Given the description of an element on the screen output the (x, y) to click on. 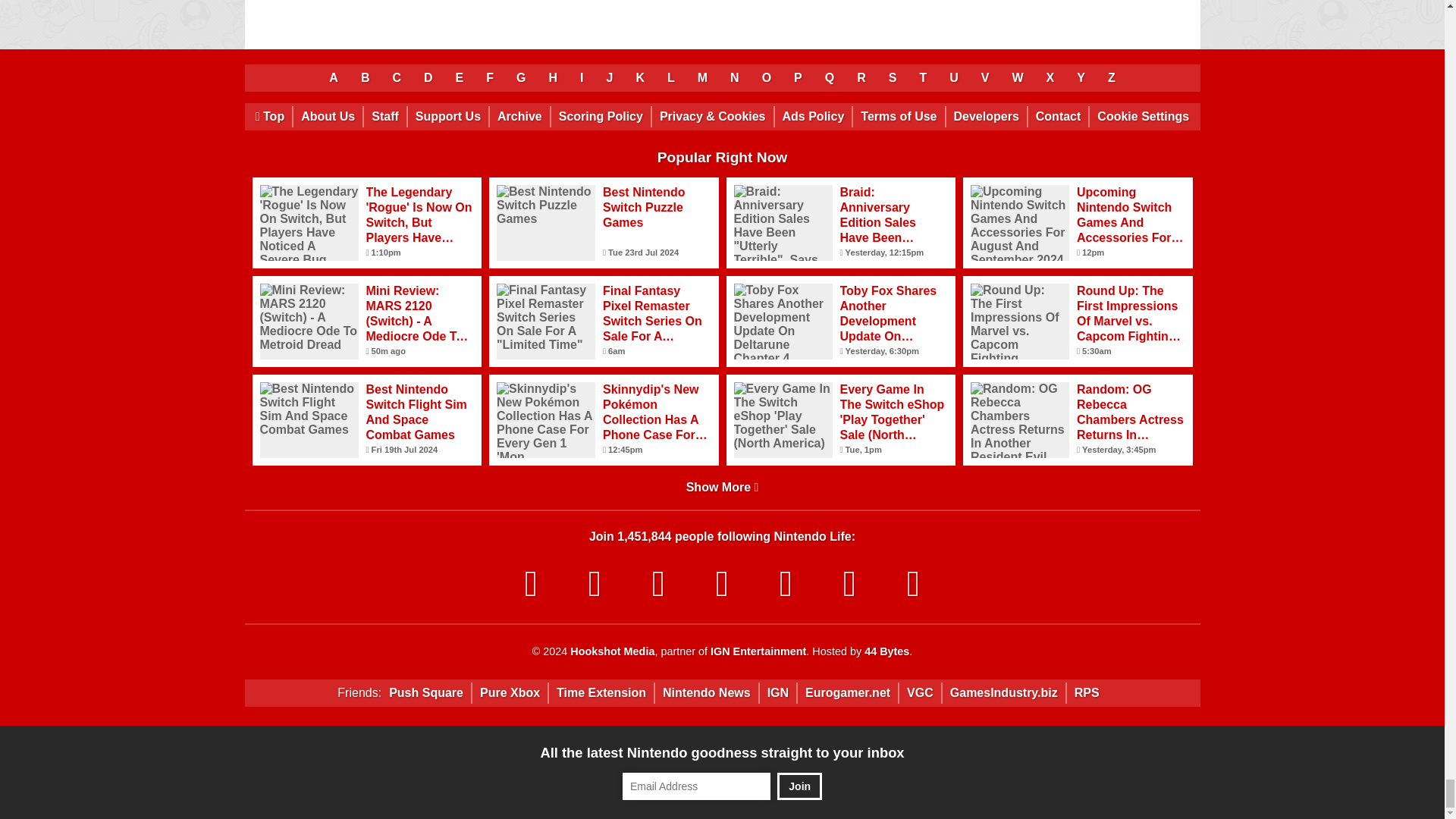
Join (799, 786)
